Given the description of an element on the screen output the (x, y) to click on. 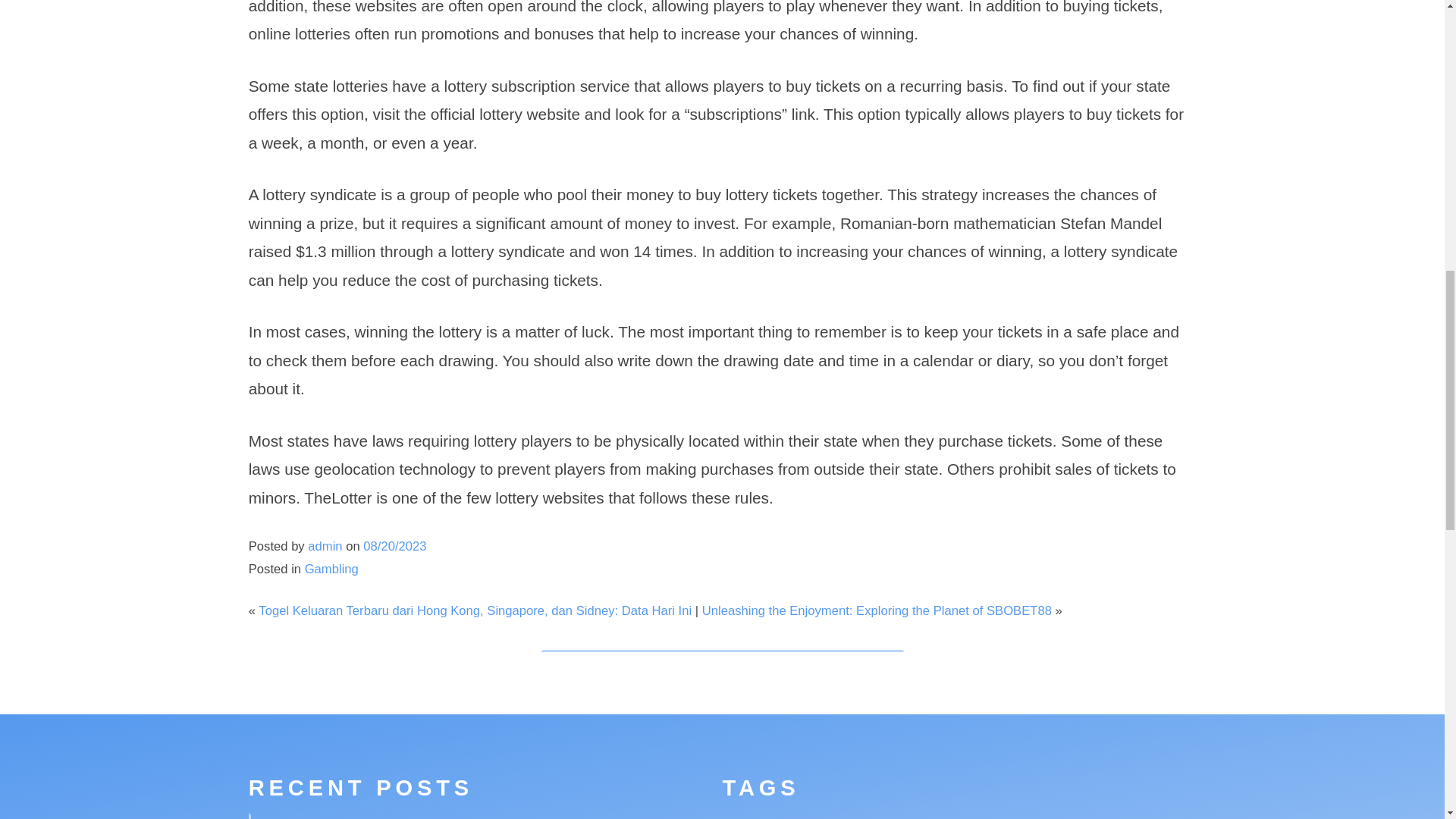
Gambling (331, 568)
Unleashing the Enjoyment: Exploring the Planet of SBOBET88 (876, 610)
admin (324, 545)
